Given the description of an element on the screen output the (x, y) to click on. 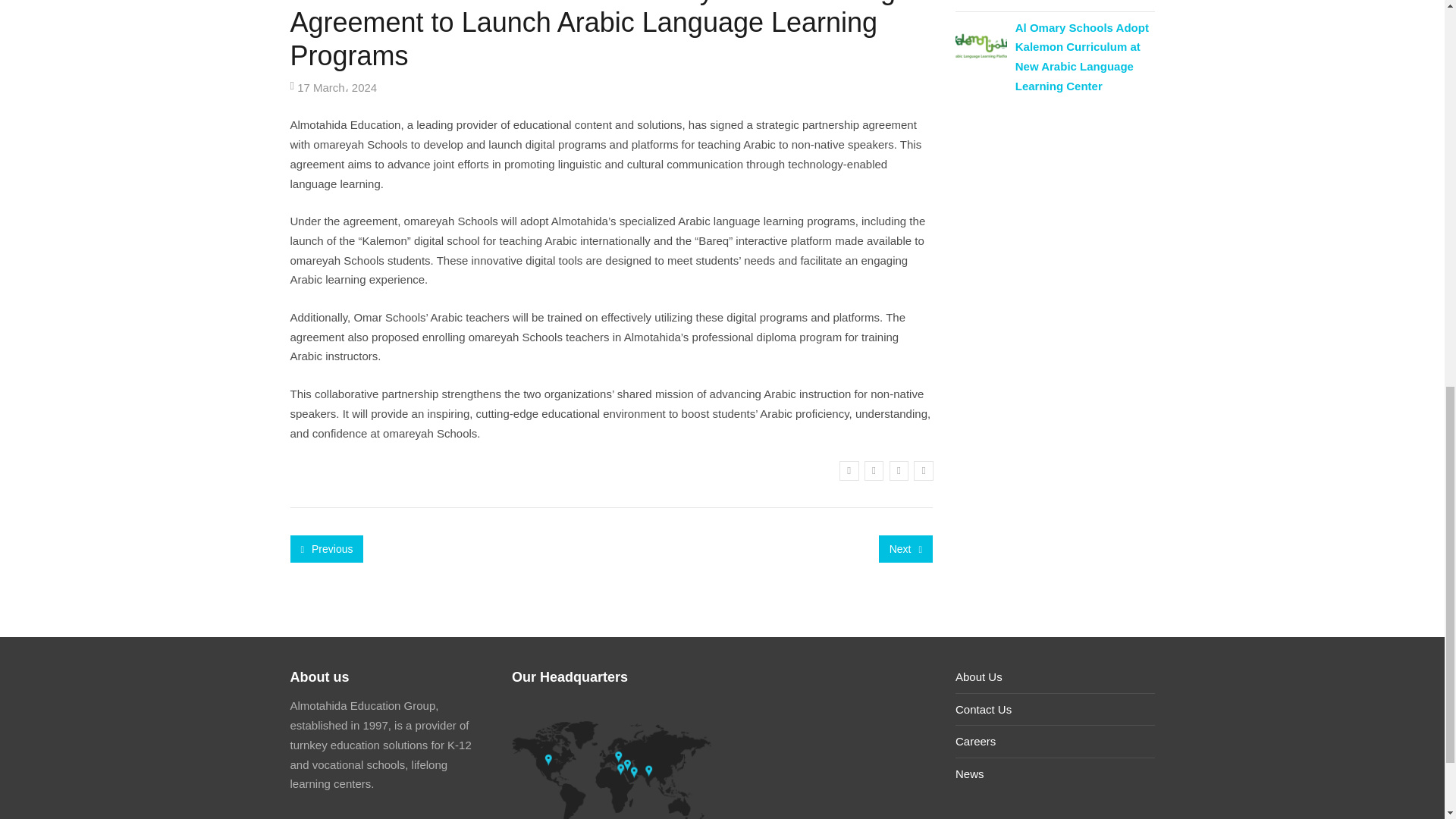
About Us (979, 676)
News (969, 773)
Careers (975, 740)
Next (906, 548)
Contact Us (983, 708)
Previous (325, 548)
